Given the description of an element on the screen output the (x, y) to click on. 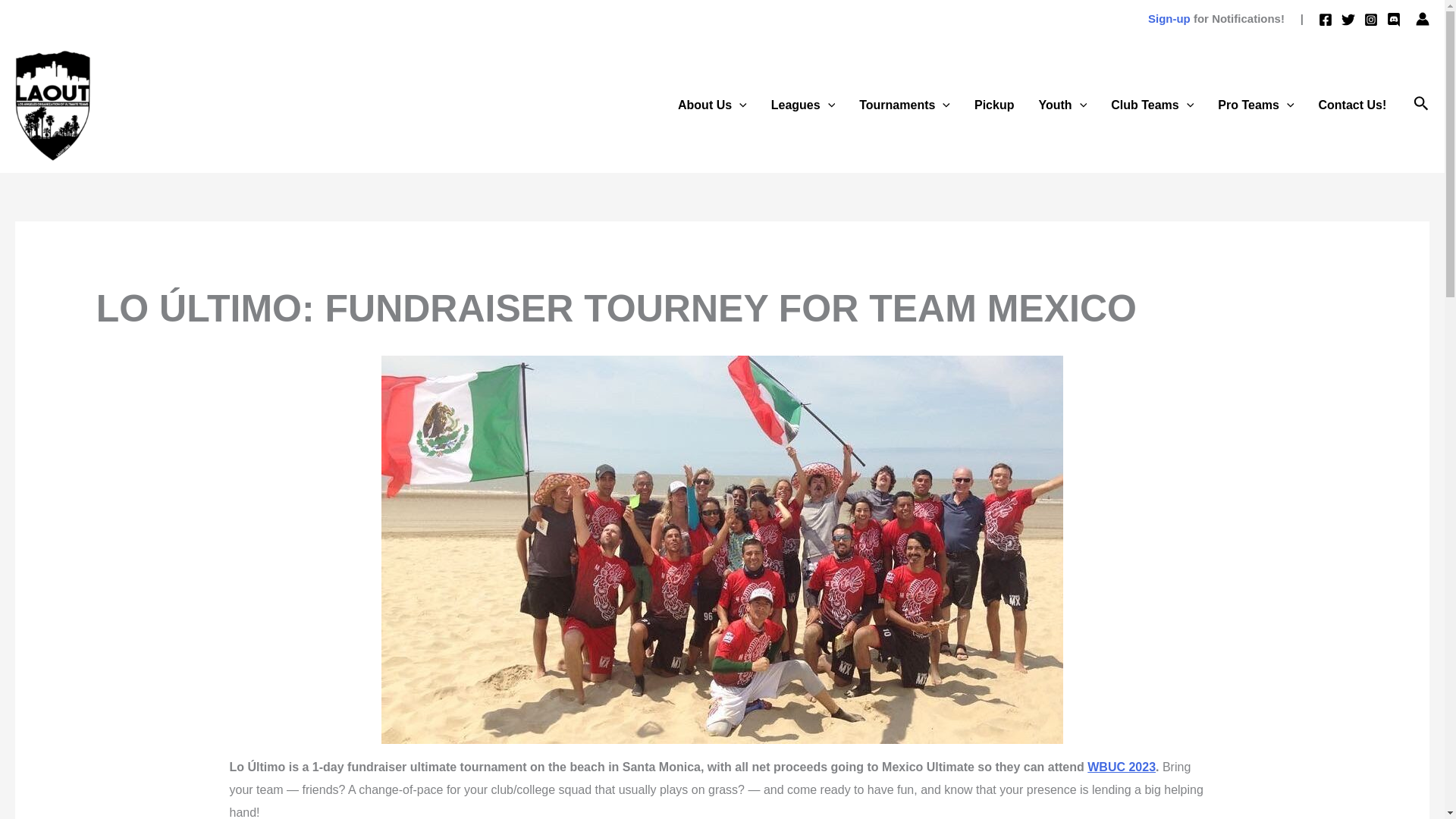
Leagues (802, 104)
Pickup (994, 104)
Sign-up (1169, 18)
About Us (711, 104)
Tournaments (904, 104)
